Given the description of an element on the screen output the (x, y) to click on. 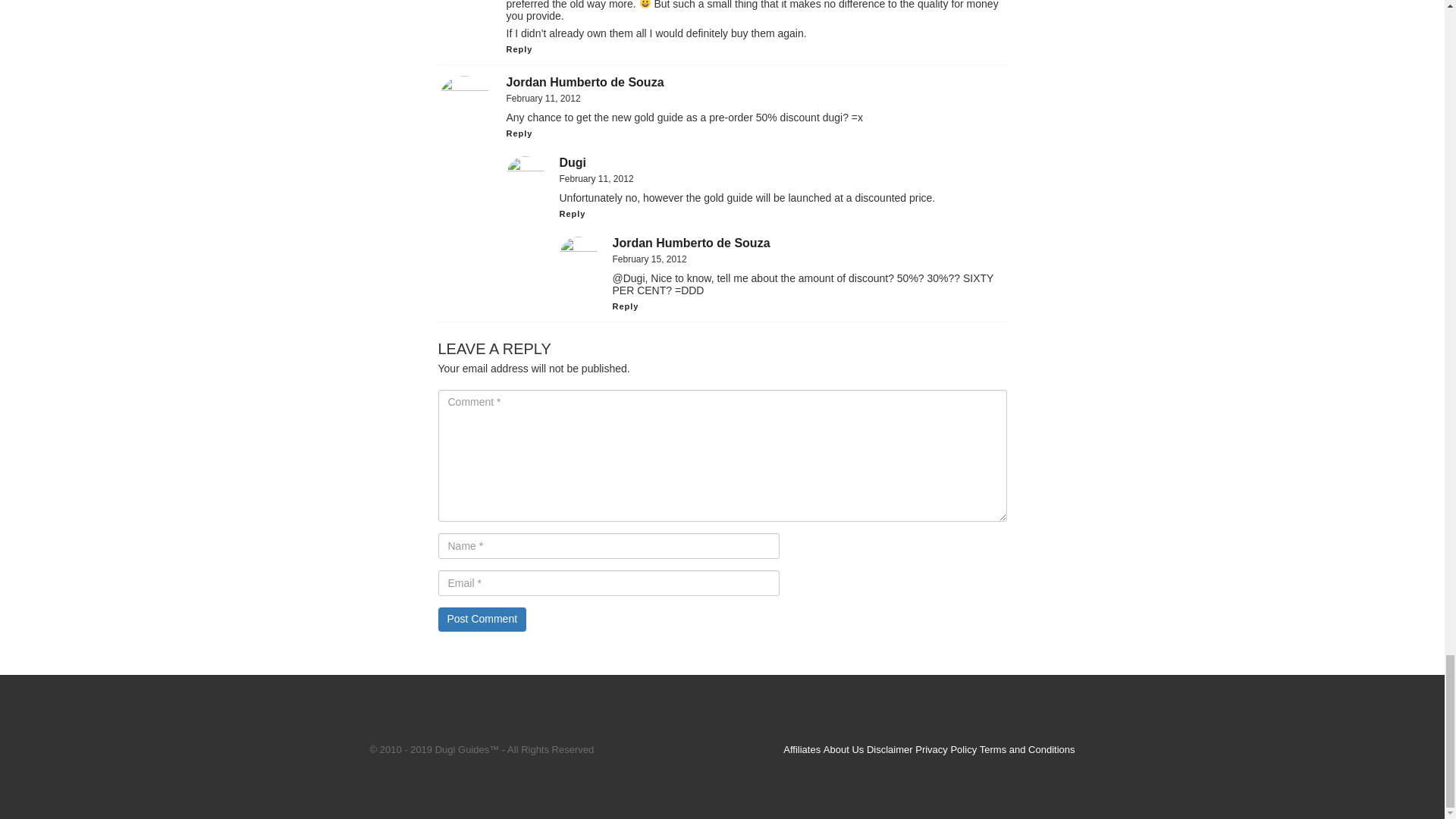
Post Comment (482, 619)
